Given the description of an element on the screen output the (x, y) to click on. 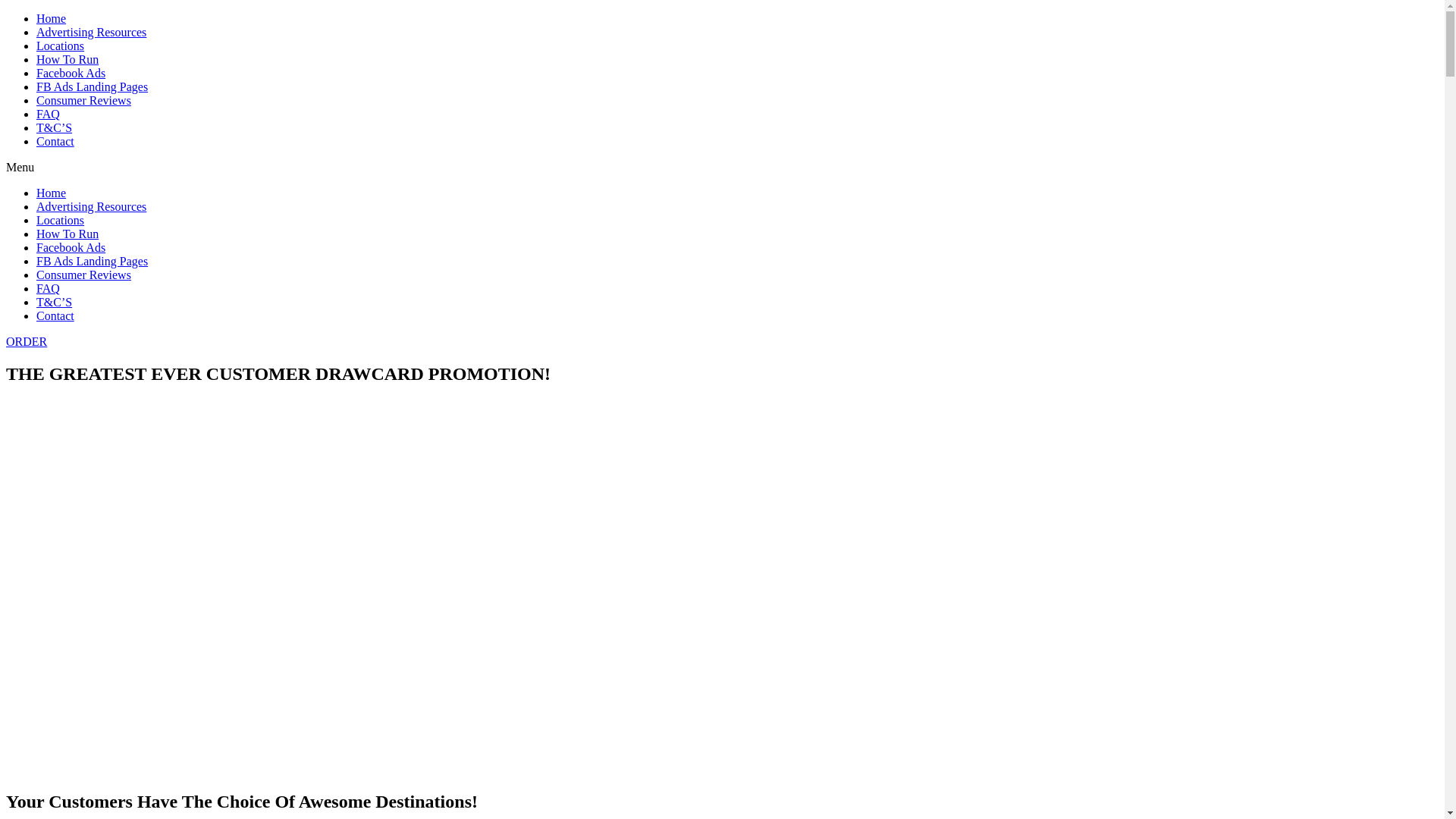
Consumer Reviews Element type: text (83, 274)
Facebook Ads Element type: text (70, 247)
Contact Element type: text (55, 315)
Facebook Ads Element type: text (70, 72)
Advertising Resources Element type: text (91, 206)
Home Element type: text (50, 192)
ORDER Element type: text (26, 341)
Locations Element type: text (60, 45)
FAQ Element type: text (47, 288)
Consumer Reviews Element type: text (83, 100)
FB Ads Landing Pages Element type: text (91, 260)
Home Element type: text (50, 18)
Advertising Resources Element type: text (91, 31)
Locations Element type: text (60, 219)
How To Run Element type: text (67, 233)
Contact Element type: text (55, 140)
FAQ Element type: text (47, 113)
FB Ads Landing Pages Element type: text (91, 86)
How To Run Element type: text (67, 59)
Skip to content Element type: text (5, 11)
